Given the description of an element on the screen output the (x, y) to click on. 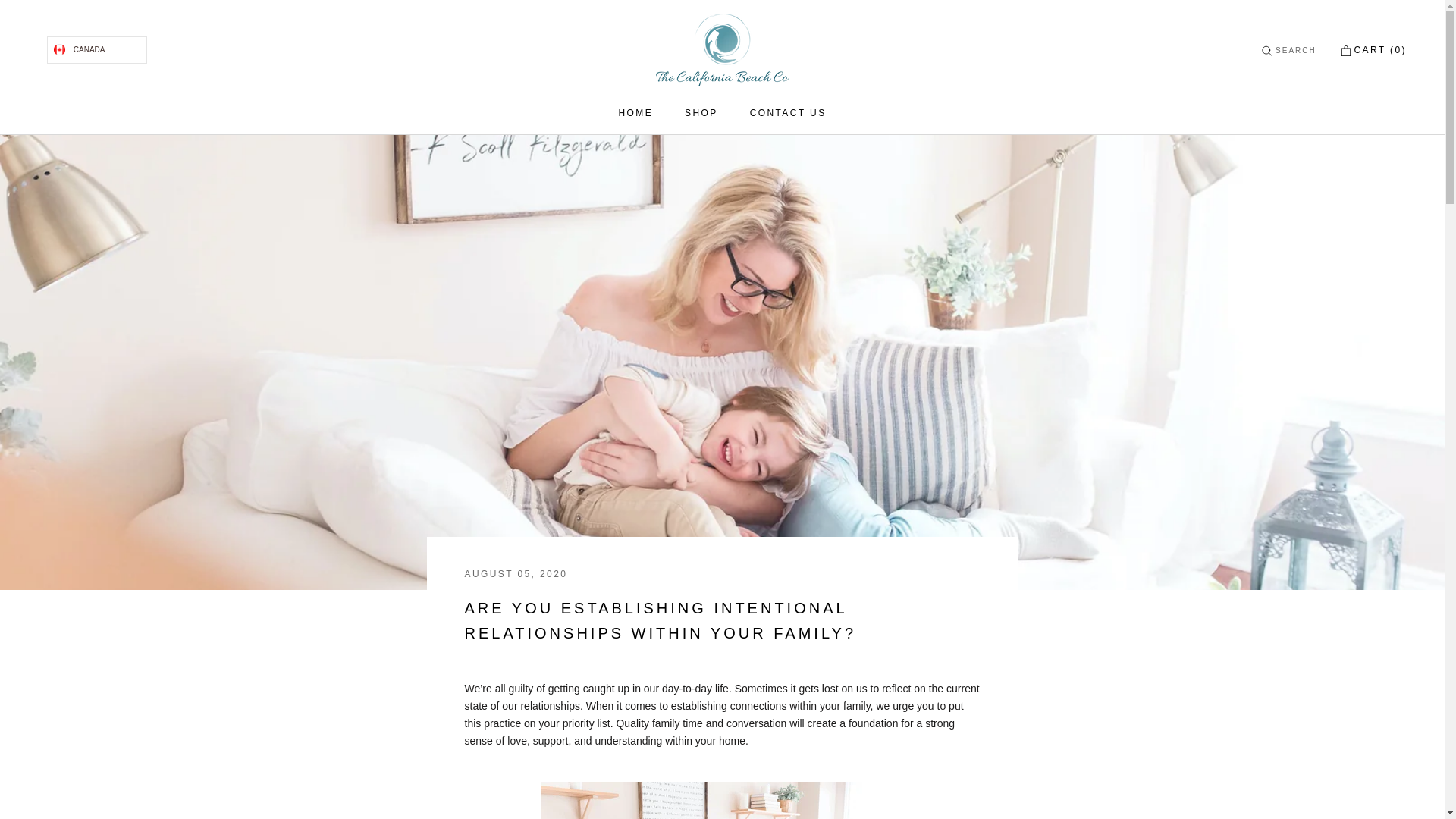
CANADA (634, 112)
SEARCH (96, 49)
